Given the description of an element on the screen output the (x, y) to click on. 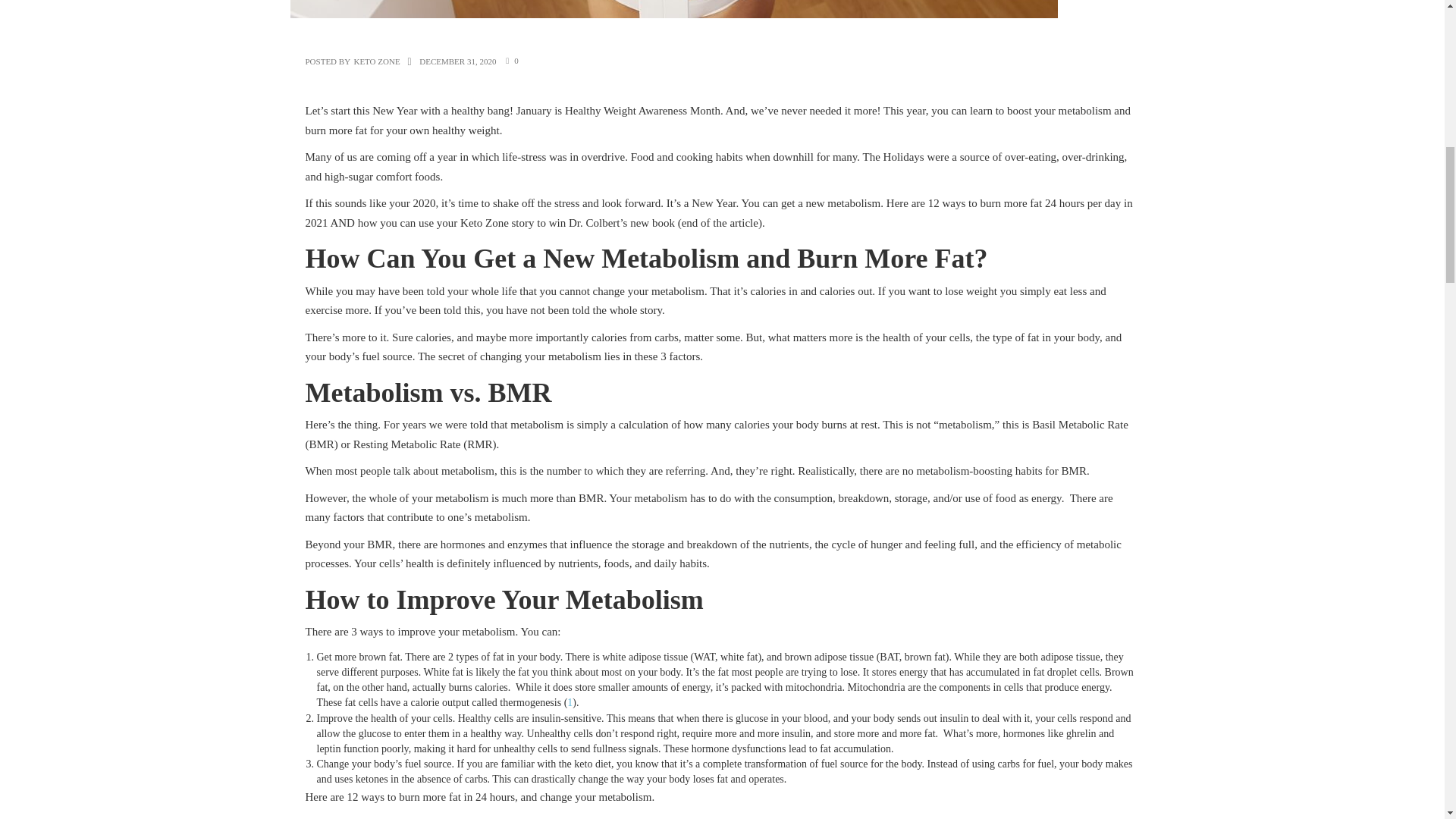
KETO ZONE (376, 61)
Posts by Keto Zone (376, 61)
0 (515, 60)
